Given the description of an element on the screen output the (x, y) to click on. 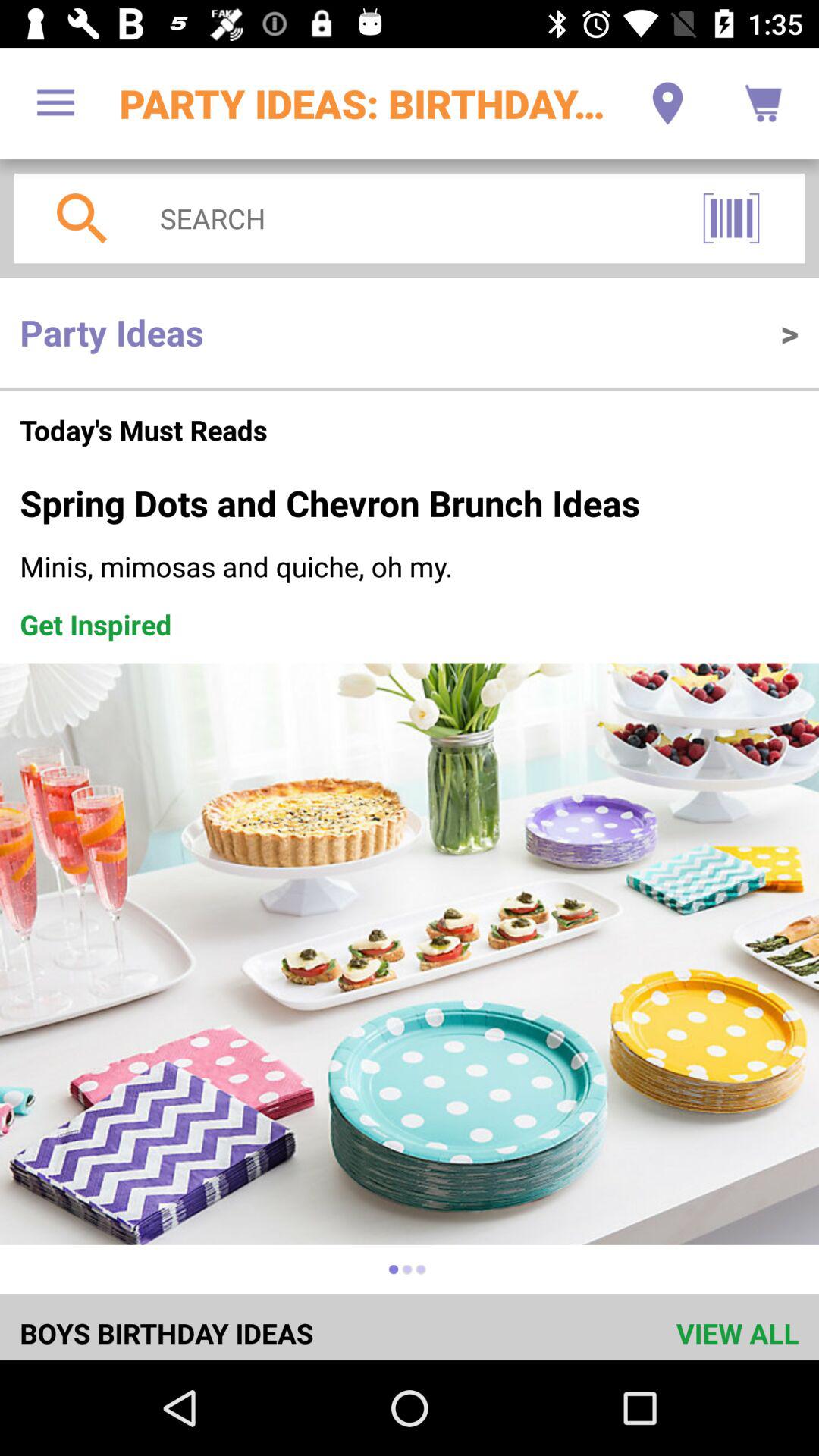
press the item to the left of the party ideas birthday item (55, 103)
